Given the description of an element on the screen output the (x, y) to click on. 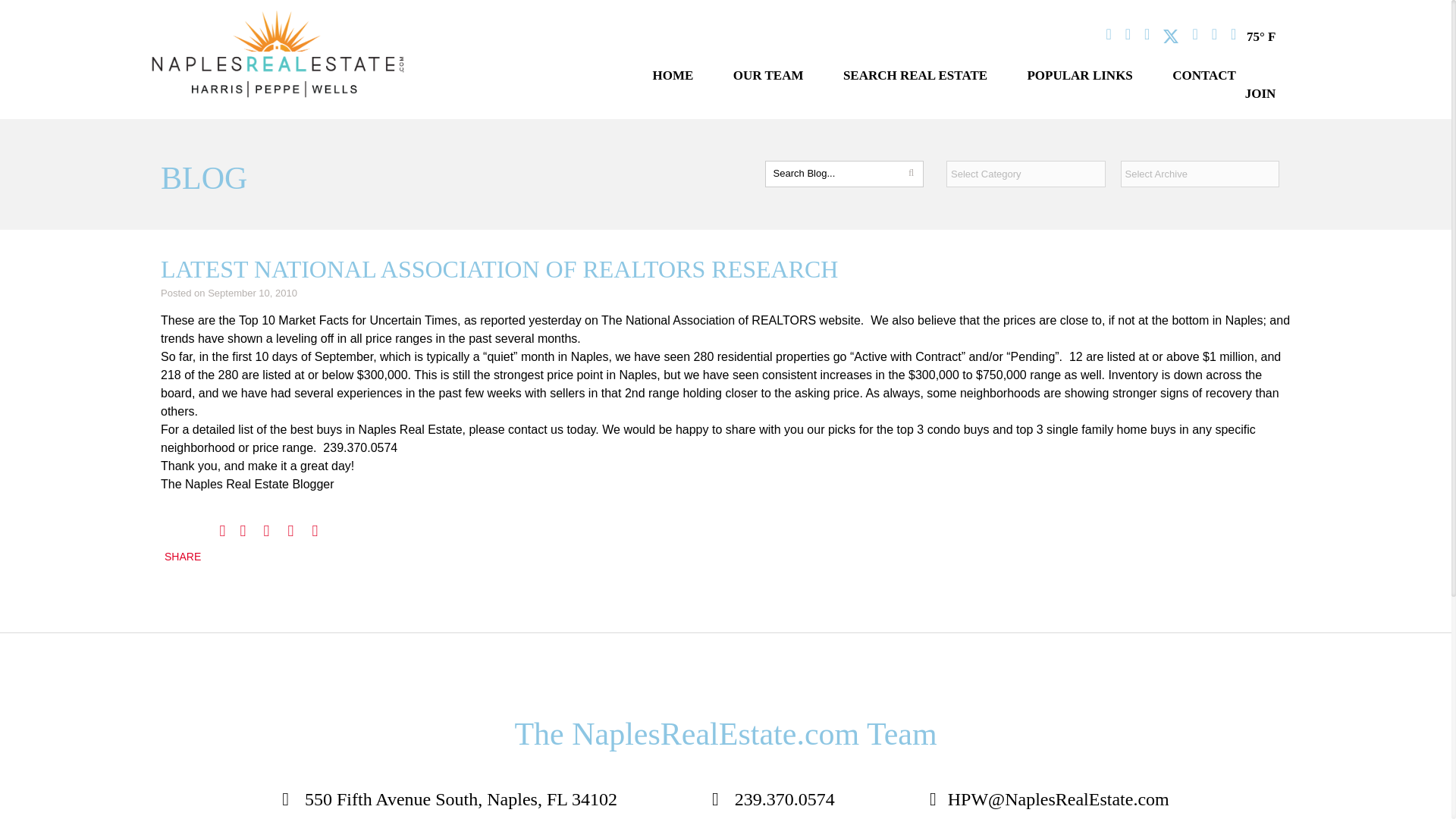
550 Fifth Avenue South, Naples, FL 34102 (449, 799)
CONTACT (1204, 74)
LATEST NATIONAL ASSOCIATION OF REALTORS RESEARCH (499, 268)
239.370.0574 (772, 799)
POPULAR LINKS (1079, 74)
HOME (673, 74)
JOIN (1260, 93)
OUR TEAM (768, 74)
SEARCH REAL ESTATE (915, 74)
